Given the description of an element on the screen output the (x, y) to click on. 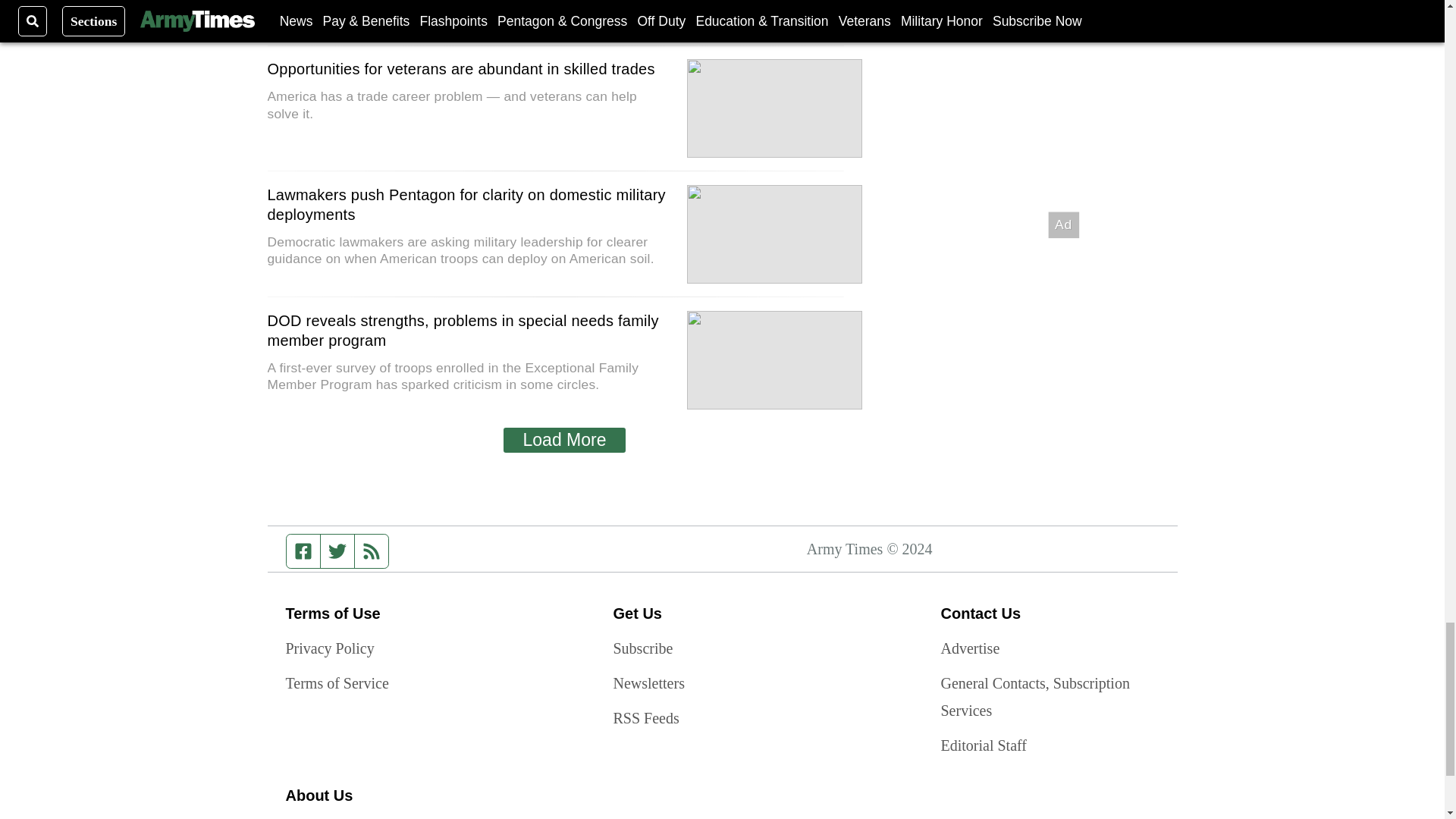
Facebook page (303, 550)
RSS feed (371, 550)
Twitter feed (336, 550)
